Given the description of an element on the screen output the (x, y) to click on. 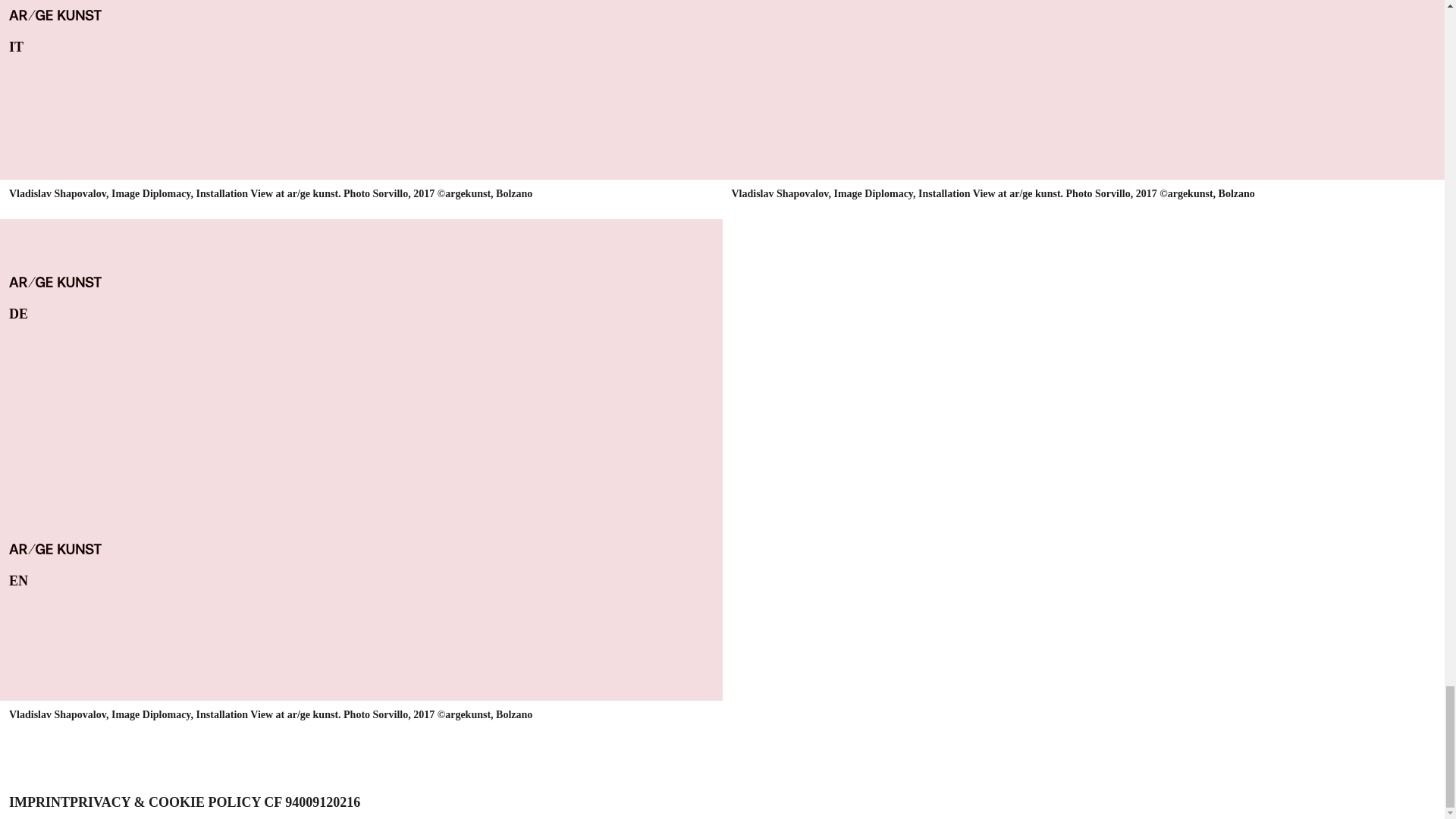
IMPRINT (38, 801)
